Given the description of an element on the screen output the (x, y) to click on. 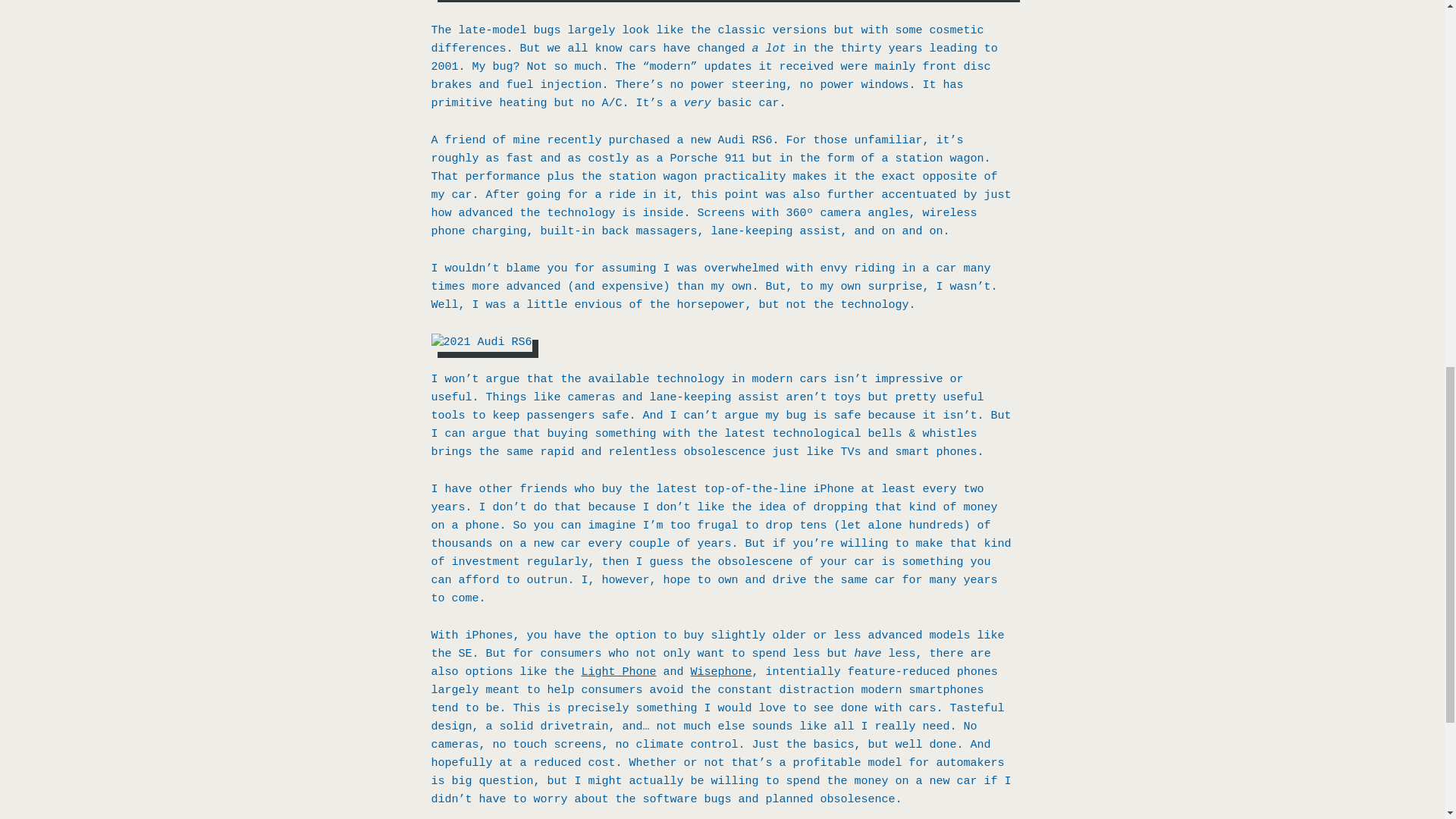
Light Phone (618, 671)
Wisephone (721, 671)
